Given the description of an element on the screen output the (x, y) to click on. 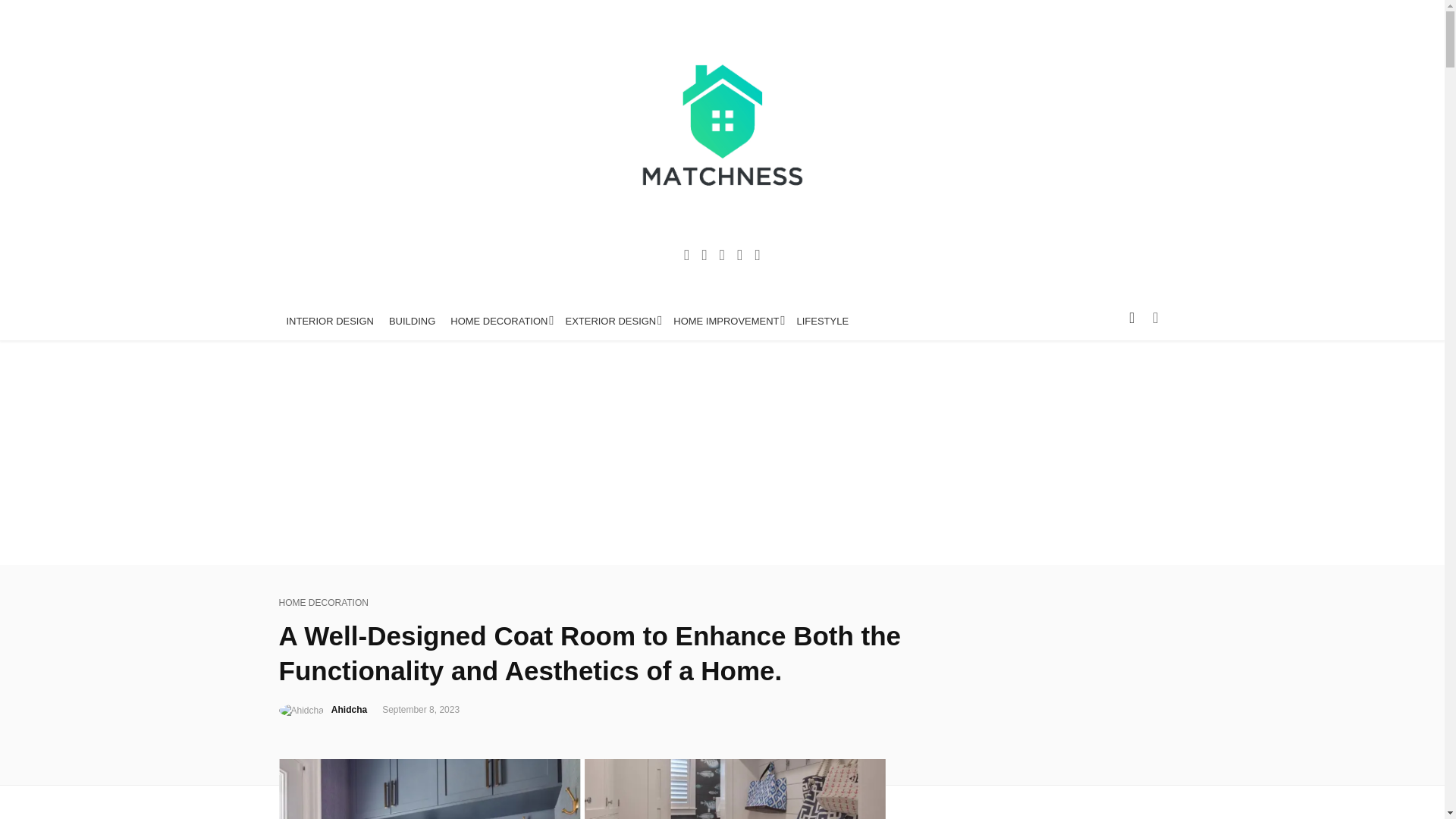
Ahidcha (348, 709)
INTERIOR DESIGN (330, 320)
EXTERIOR DESIGN (611, 320)
HOME DECORATION (499, 320)
HOME DECORATION (323, 603)
LIFESTYLE (823, 320)
BUILDING (411, 320)
September 8, 2023 at 3:37 pm (420, 709)
HOME IMPROVEMENT (727, 320)
